Given the description of an element on the screen output the (x, y) to click on. 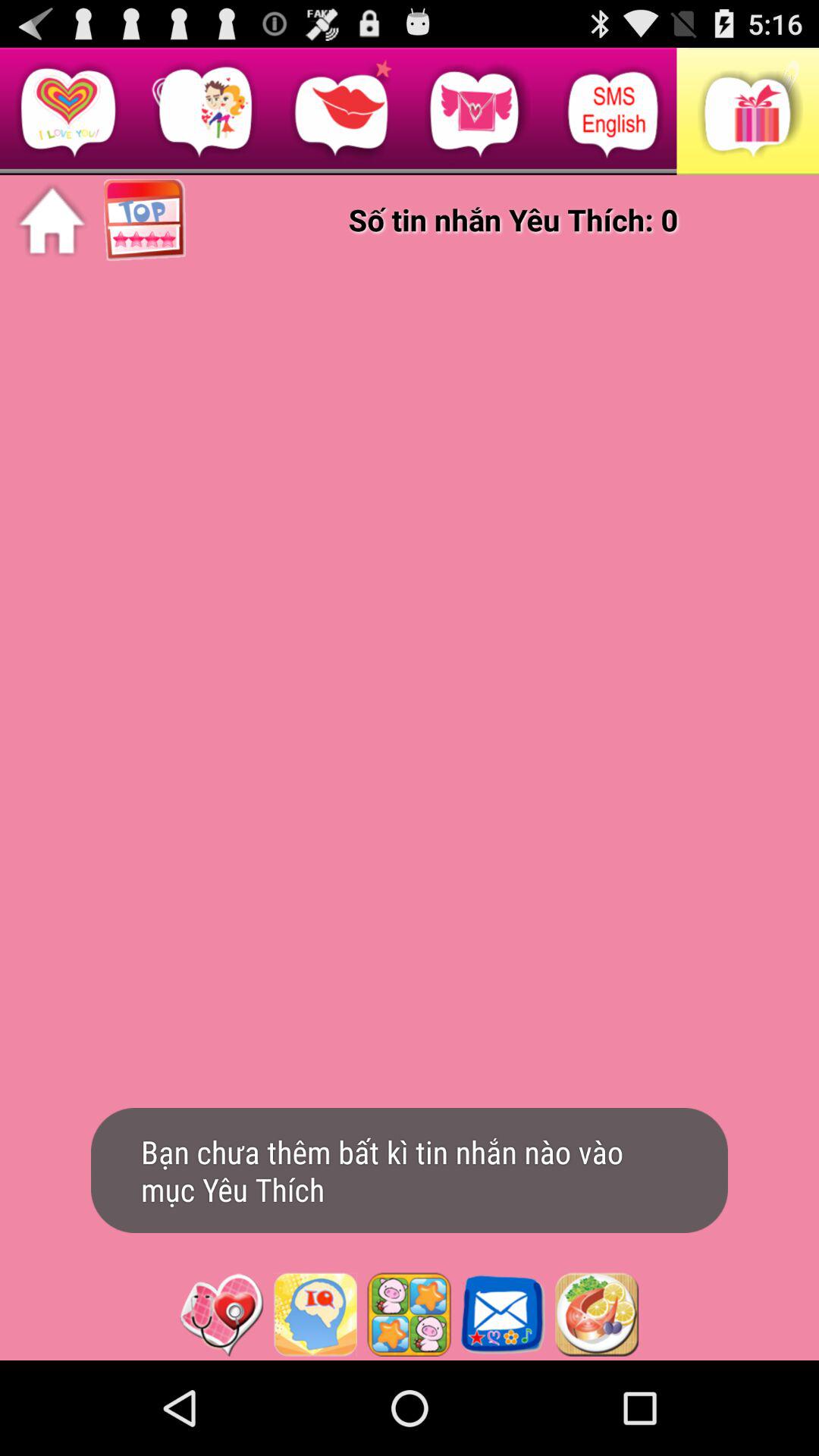
message button (502, 1314)
